Given the description of an element on the screen output the (x, y) to click on. 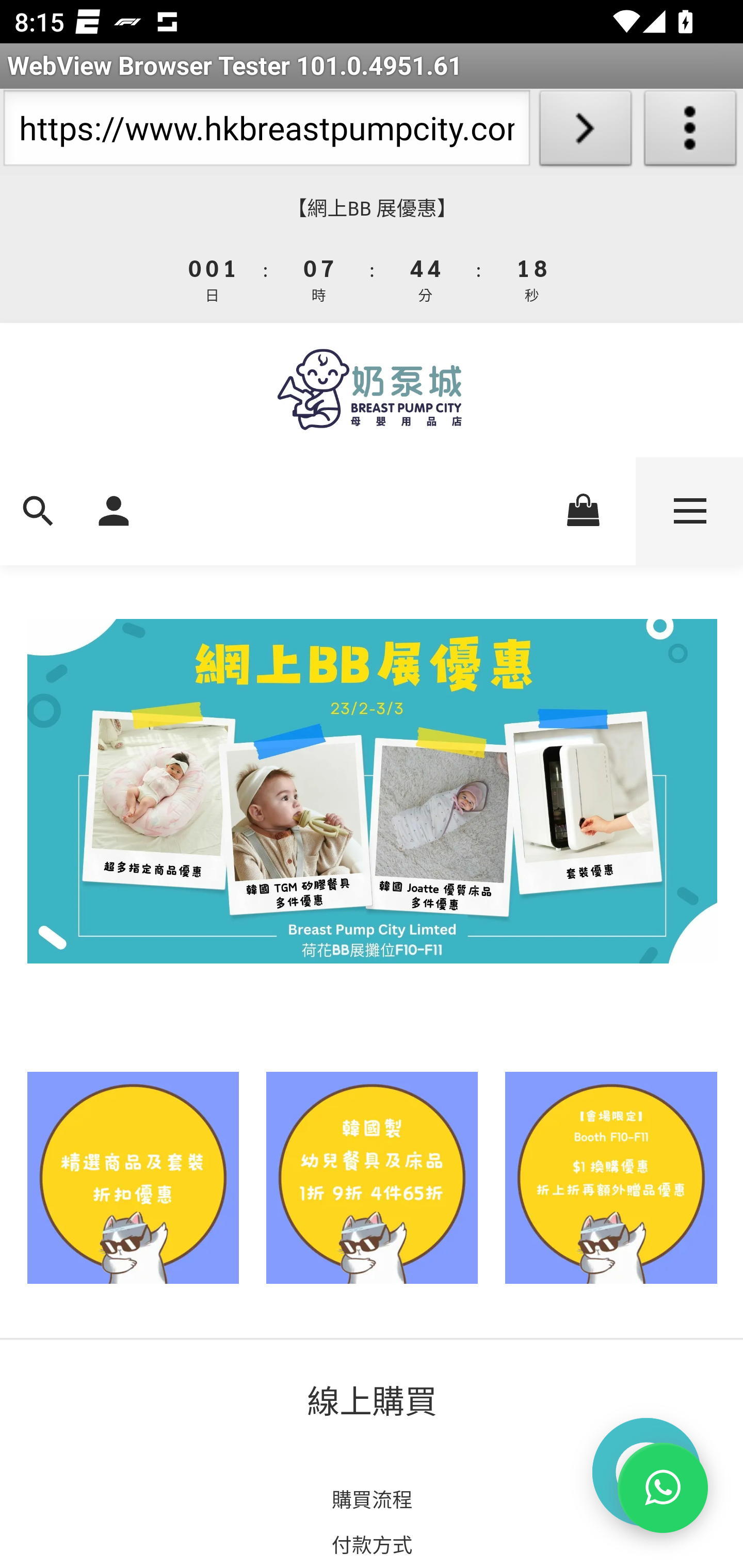
Load URL (585, 132)
About WebView (690, 132)
【網上BB 展優惠】 (371, 208)
3 2 1 0 3 2 1 0 4 3 2 1 0 日 (213, 277)
3 2 1 0 9 8 7 6 5 4 3 2 1 0 時 (318, 277)
7 6 5 4 3 2 1 0 7 6 5 4 3 2 1 0 分 (425, 277)
4 3 2 1 0 9 8 7 6 5 4 3 2 1 0 秒 (530, 277)
594x (371, 389)
sign_in (113, 508)
65d770b61e31ed001184a325?draft=true&debug=true (371, 1177)
購買流程 (371, 1499)
付款方式 (371, 1543)
